Given the description of an element on the screen output the (x, y) to click on. 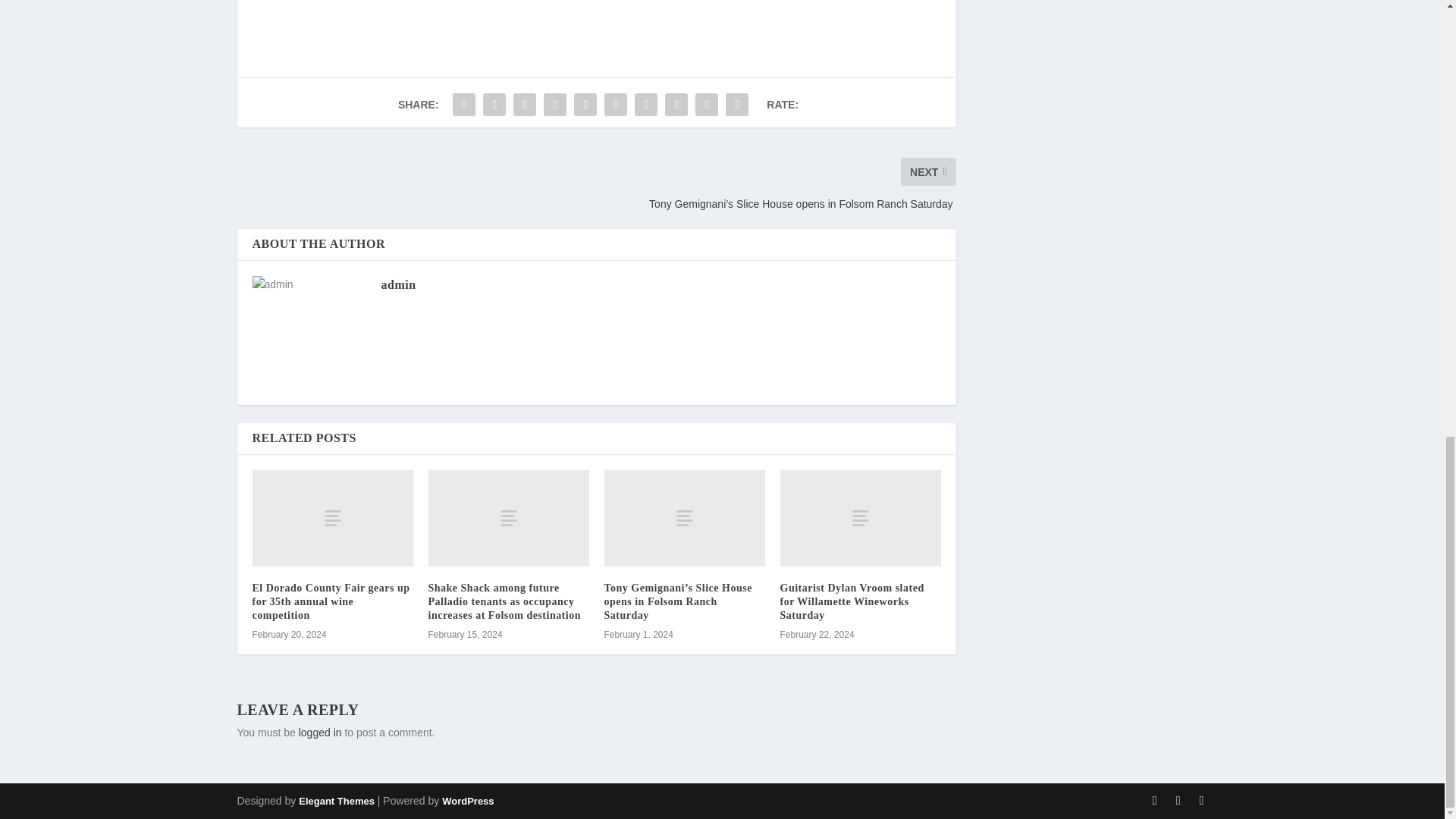
View all posts by admin (397, 284)
logged in (320, 732)
admin (397, 284)
